Given the description of an element on the screen output the (x, y) to click on. 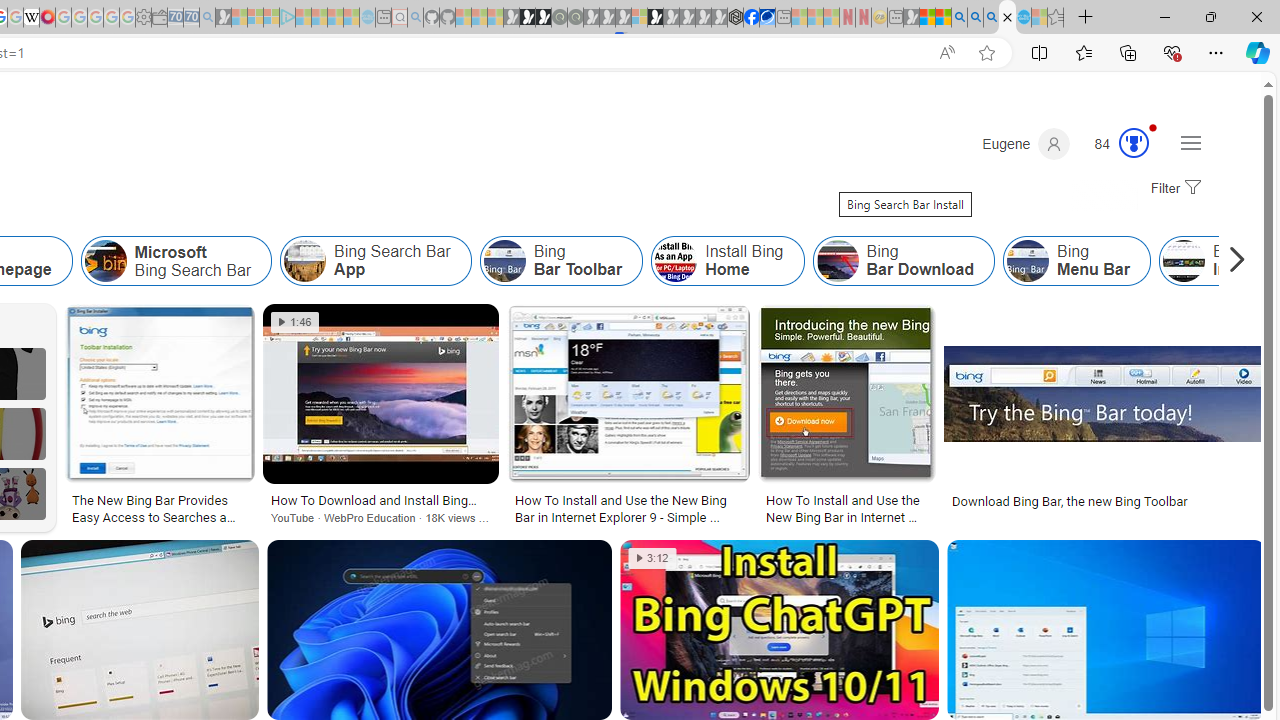
Settings - Sleeping (143, 17)
Download Bing Bar, the new Bing Toolbar (1105, 500)
Microsoft Bing Search Bar (175, 260)
Bing Menu Bar (1028, 260)
Download Bing Bar, the new Bing ToolbarSave (1104, 417)
